Given the description of an element on the screen output the (x, y) to click on. 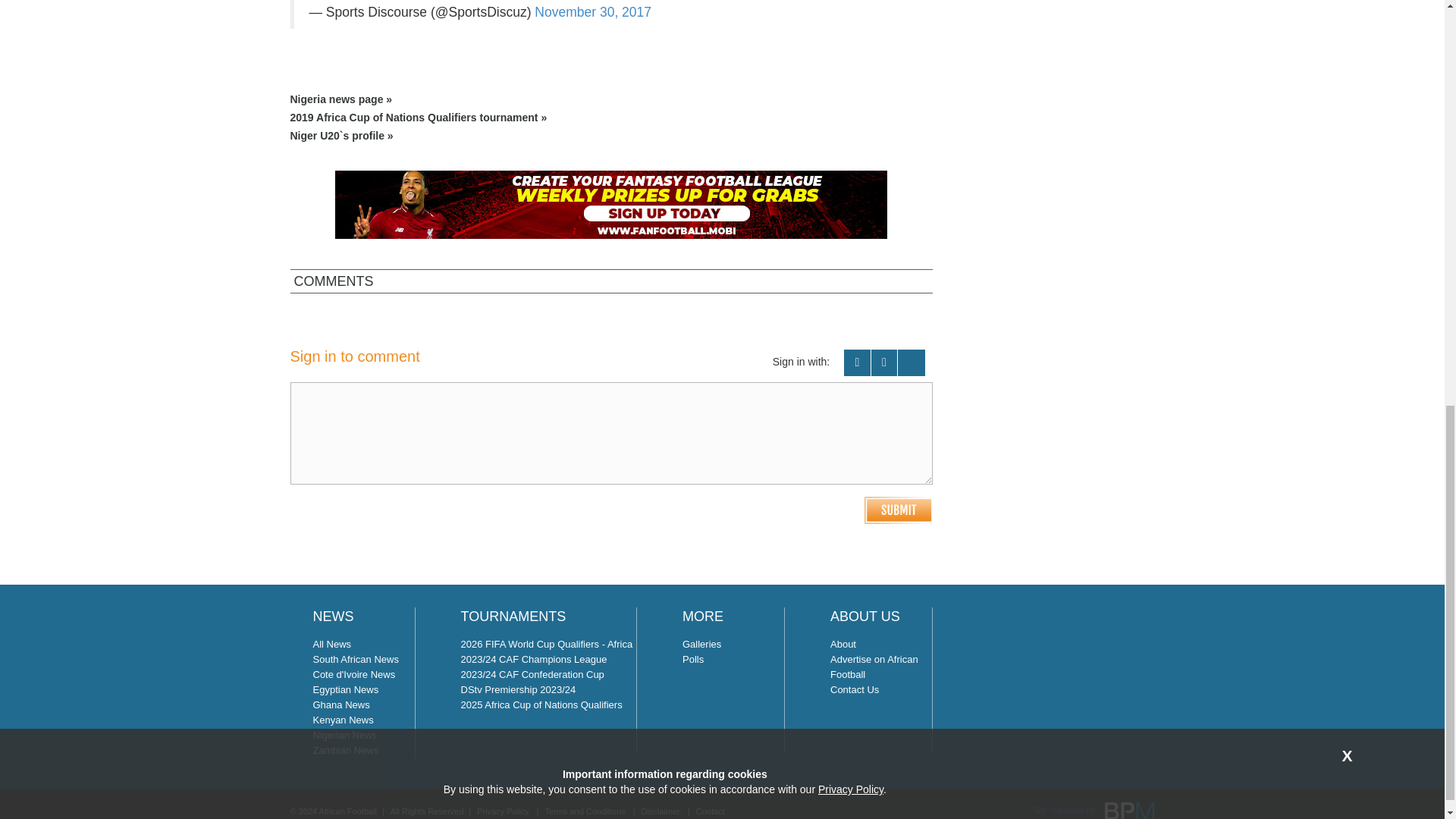
Nigeria news page (611, 99)
2019 Africa Cup of Nations Qualifiers tournament (611, 117)
Sign in with your Facebook details (856, 362)
Sign in with your Twitter details (884, 362)
